Given the description of an element on the screen output the (x, y) to click on. 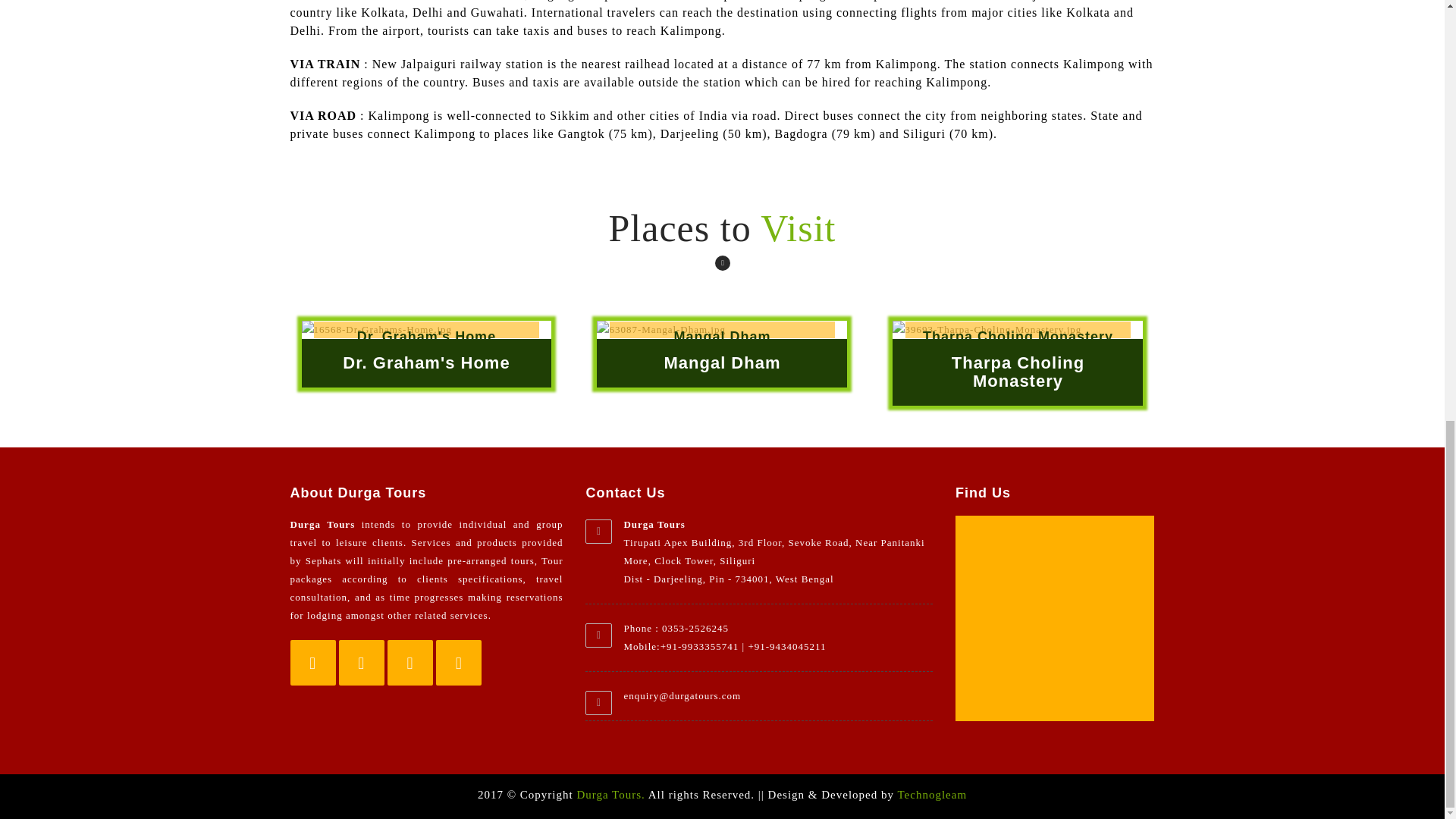
16568-Dr-Grahams-Home.jpg (426, 330)
63087-Mangal-Dham.jpg (721, 330)
39693-Tharpa-Choling-Monastery.jpg (1017, 330)
